Given the description of an element on the screen output the (x, y) to click on. 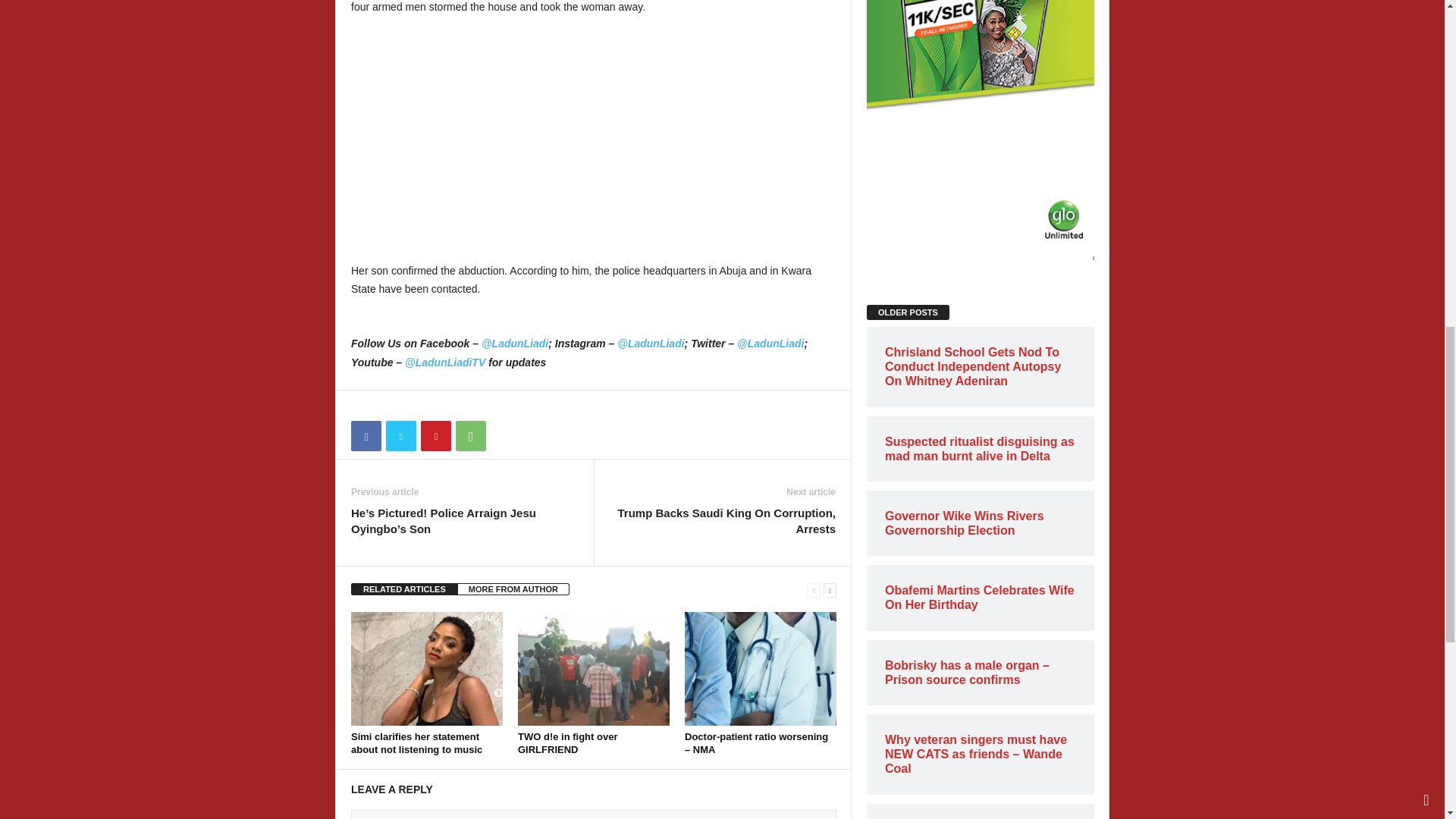
Facebook (365, 435)
Advertisement (592, 140)
bottomFacebookLike (390, 406)
WhatsApp (470, 435)
Pinterest (435, 435)
Twitter (400, 435)
